Given the description of an element on the screen output the (x, y) to click on. 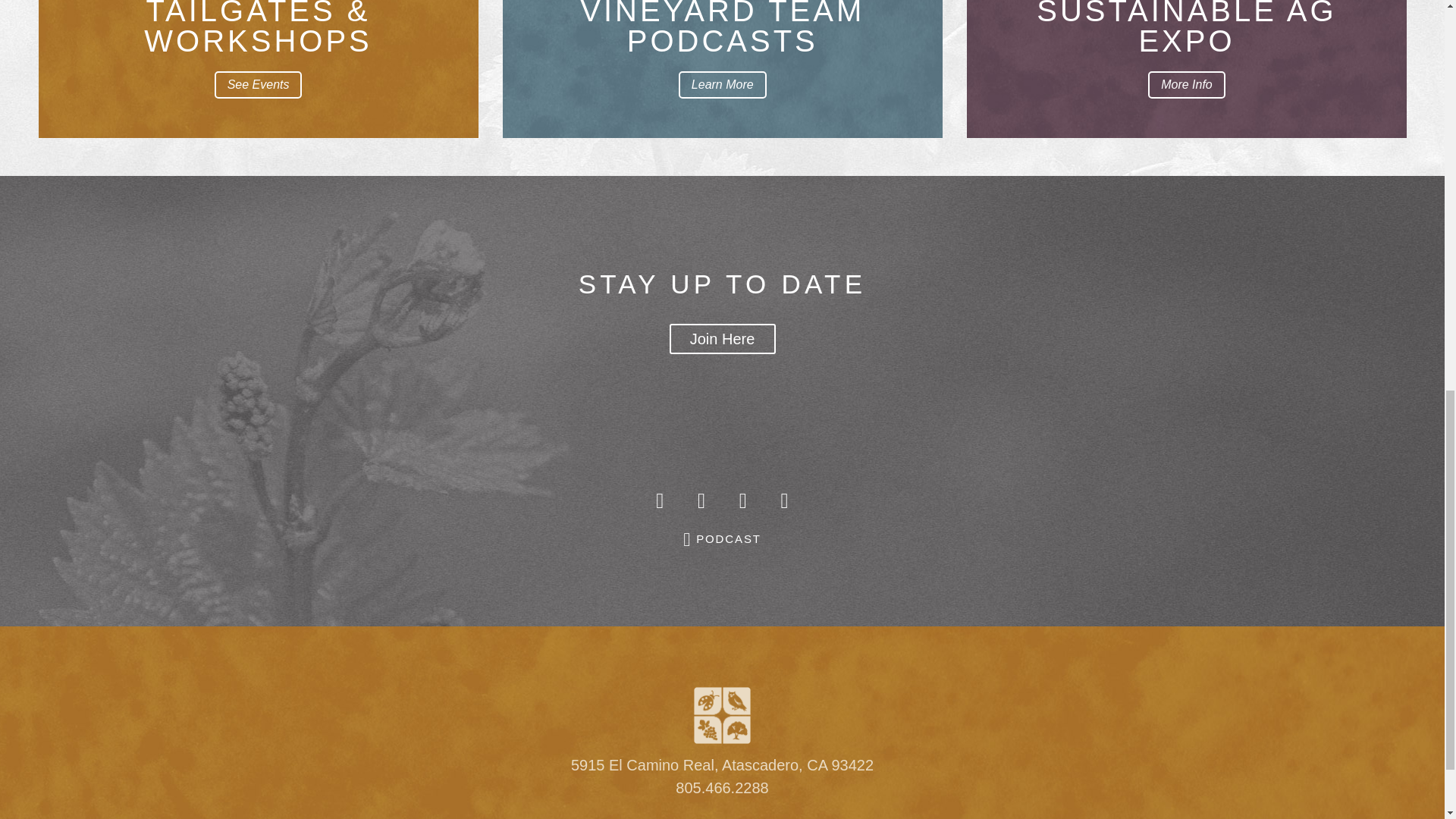
Join Here (721, 338)
805.466.2288 (721, 787)
PODCAST (721, 539)
